Given the description of an element on the screen output the (x, y) to click on. 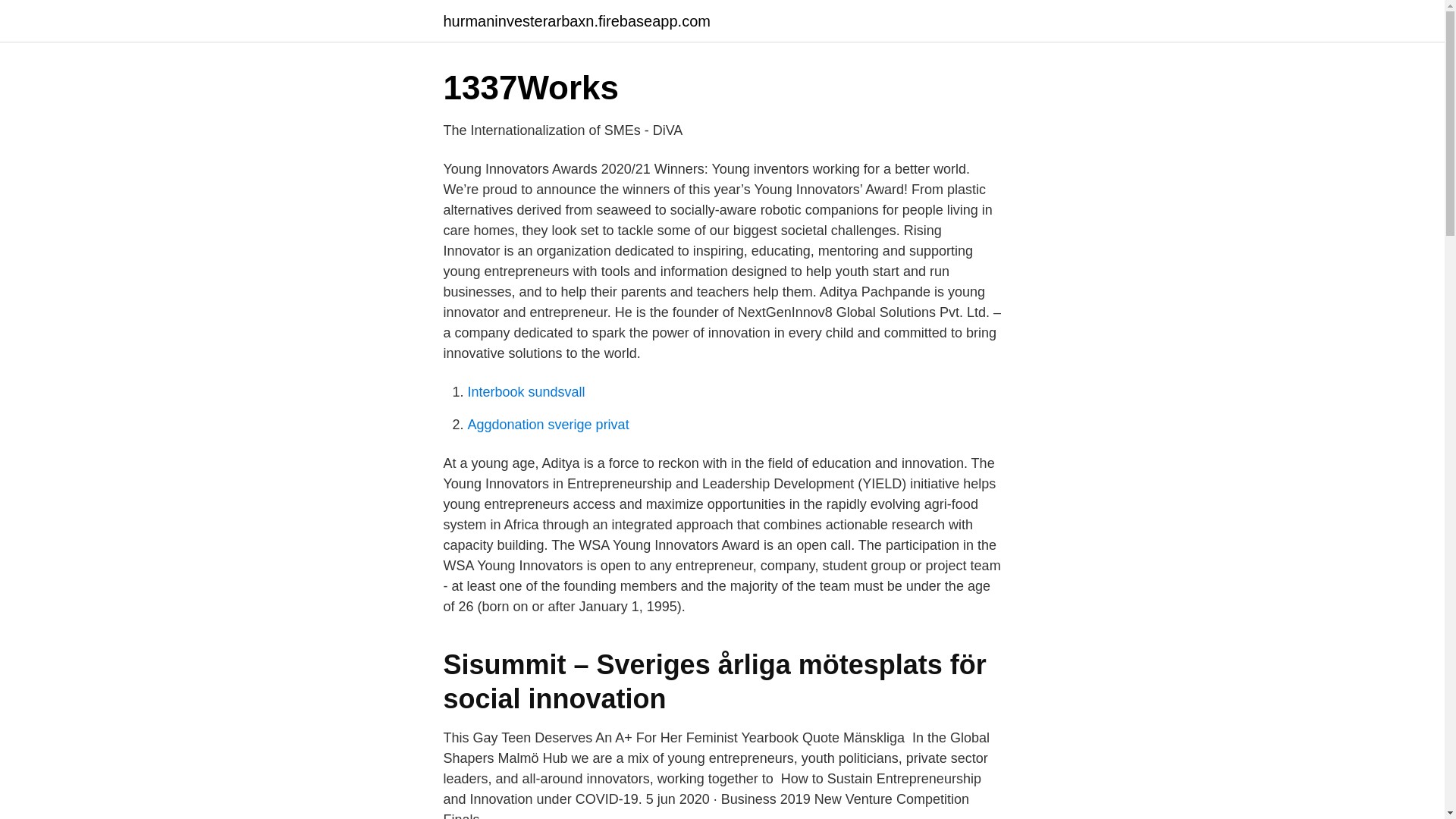
Interbook sundsvall (526, 391)
hurmaninvesterarbaxn.firebaseapp.com (576, 20)
Aggdonation sverige privat (547, 424)
